Given the description of an element on the screen output the (x, y) to click on. 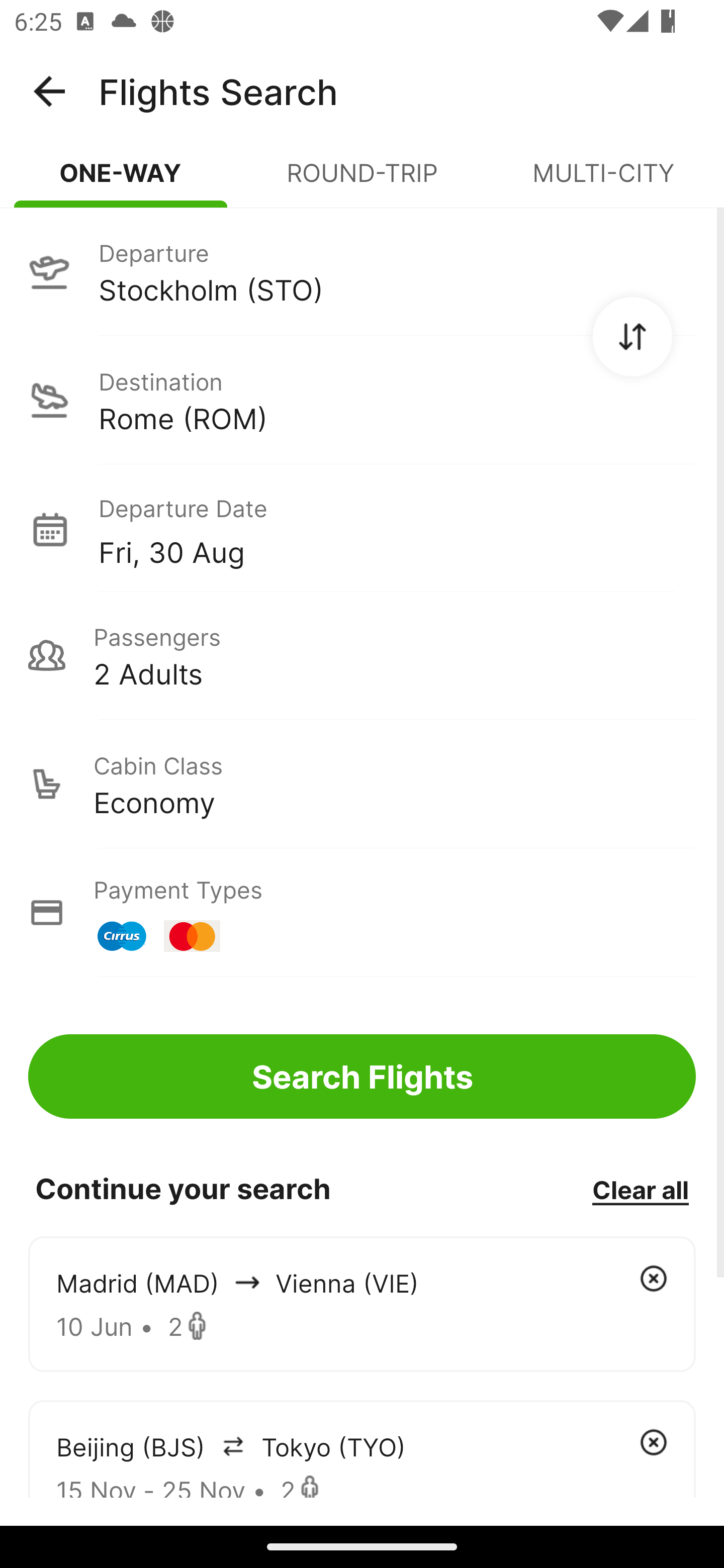
ONE-WAY (120, 180)
ROUND-TRIP (361, 180)
MULTI-CITY (603, 180)
Departure Stockholm (STO) (362, 270)
Destination Rome (ROM) (362, 400)
Departure Date Fri, 30 Aug (396, 528)
Passengers 2 Adults (362, 655)
Cabin Class Economy (362, 783)
Payment Types (362, 912)
Search Flights (361, 1075)
Clear all (640, 1189)
Madrid (MAD)  arrowIcon  Vienna (VIE) 10 Jun •  2  (361, 1303)
